Given the description of an element on the screen output the (x, y) to click on. 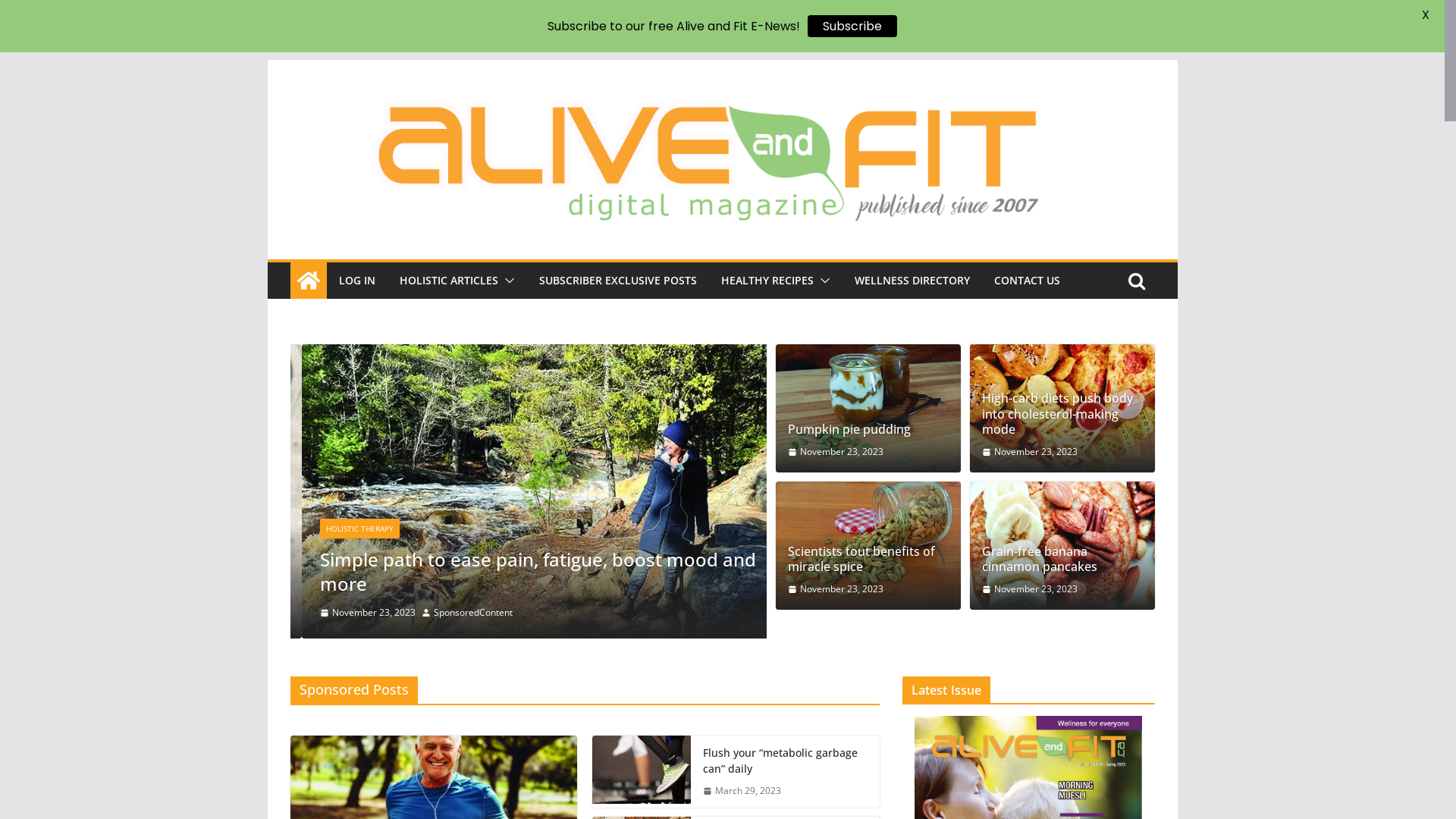
Grain-free banana cinnamon pancakes Element type: hover (527, 476)
WELLNESS DIRECTORY Element type: text (911, 280)
High-carb diets push body into cholesterol-making mode Element type: text (1062, 413)
Scientists tout benefits of miracle spice Element type: text (476, 583)
Pumpkin pie pudding Element type: hover (867, 408)
HEALTHY RECIPES Element type: text (766, 280)
UNCATEGORIZED Element type: text (344, 552)
March 29, 2023 Element type: text (741, 790)
Alive+Fit Element type: hover (307, 280)
Grain-free banana cinnamon pancakes Element type: hover (1061, 545)
Scientists tout benefits of miracle spice Element type: hover (867, 545)
Grain-free banana cinnamon pancakes Element type: hover (527, 354)
Subscribe Element type: text (852, 26)
Skip to content Element type: text (266, 59)
November 23, 2023 Element type: text (835, 588)
Scientists tout benefits of miracle spice Element type: text (867, 559)
November 23, 2023 Element type: text (1029, 451)
LOG IN Element type: text (356, 280)
High-carb diets push body into cholesterol-making mode Element type: hover (1061, 408)
Pumpkin pie pudding Element type: text (867, 429)
November 23, 2023 Element type: text (835, 451)
November 23, 2023 Element type: text (355, 612)
Grain-free banana cinnamon pancakes Element type: text (1062, 559)
CONTACT US Element type: text (1026, 280)
SUBSCRIBER EXCLUSIVE POSTS Element type: text (617, 280)
Sari Element type: text (429, 612)
November 23, 2023 Element type: text (1029, 588)
HOLISTIC ARTICLES Element type: text (447, 280)
